Given the description of an element on the screen output the (x, y) to click on. 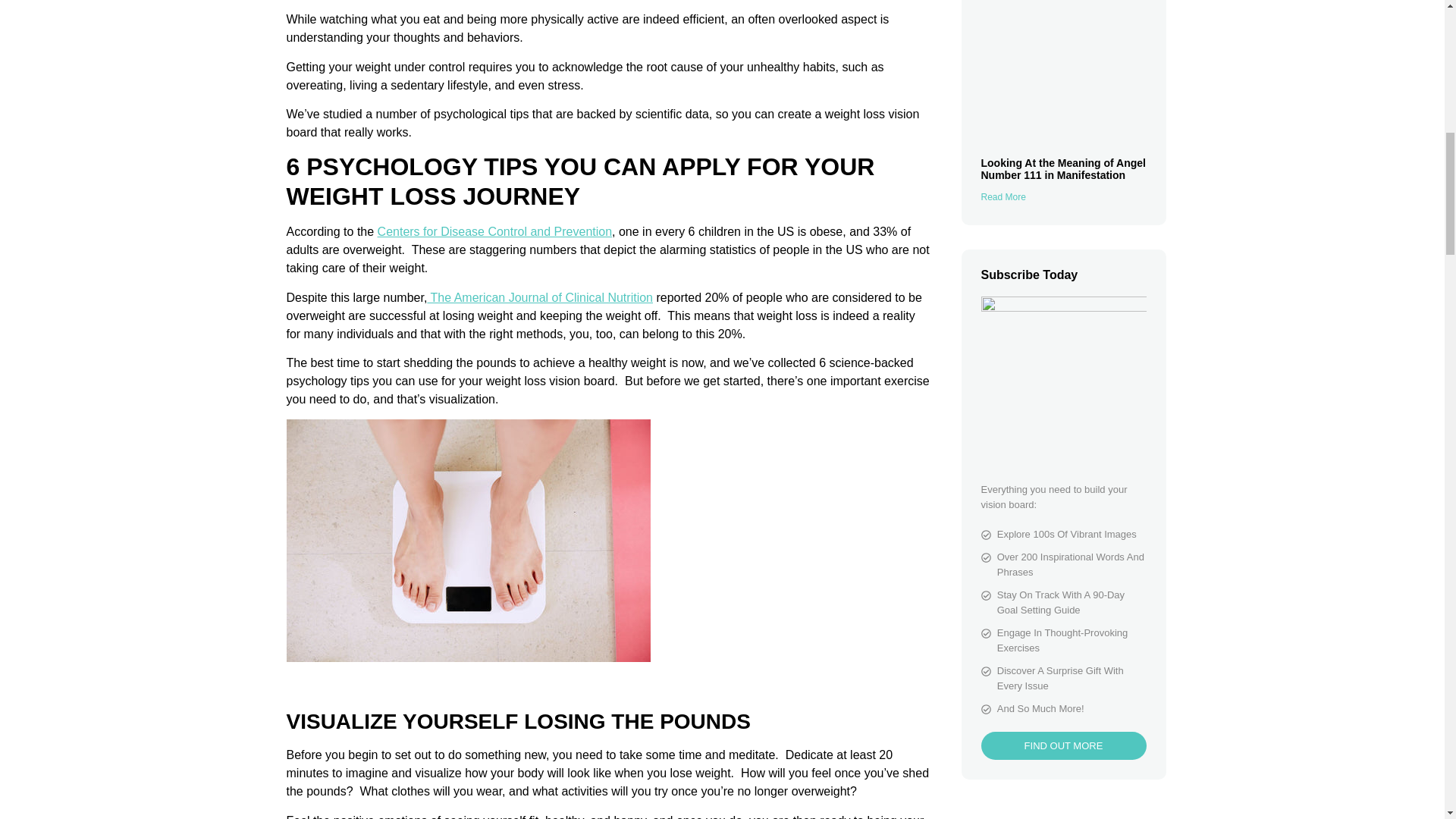
 The American Journal of Clinical Nutrition (539, 297)
Centers for Disease Control and Prevention (494, 231)
